Given the description of an element on the screen output the (x, y) to click on. 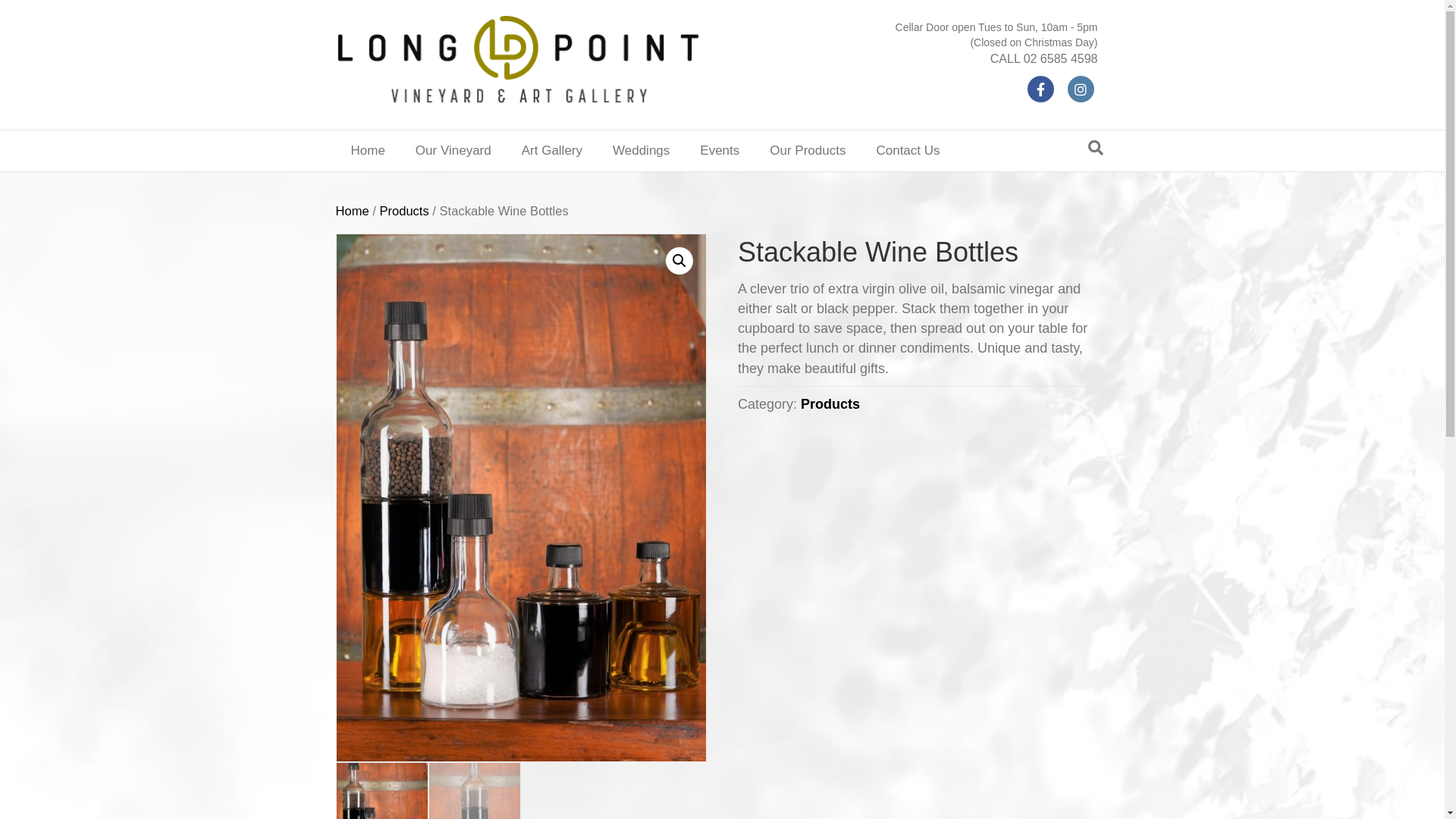
Facebook Element type: text (1040, 89)
Instagram Element type: text (1080, 89)
Our Products Element type: text (807, 150)
Home Element type: text (367, 150)
Events Element type: text (719, 150)
Contact Us Element type: text (907, 150)
Art Gallery Element type: text (551, 150)
CALL 02 6585 4598 Element type: text (1044, 58)
Products Element type: text (829, 403)
Weddings Element type: text (640, 150)
Home Element type: text (351, 210)
Our Vineyard Element type: text (453, 150)
Products Element type: text (403, 210)
Stackable Wine Bottles Edited Element type: hover (520, 497)
